Given the description of an element on the screen output the (x, y) to click on. 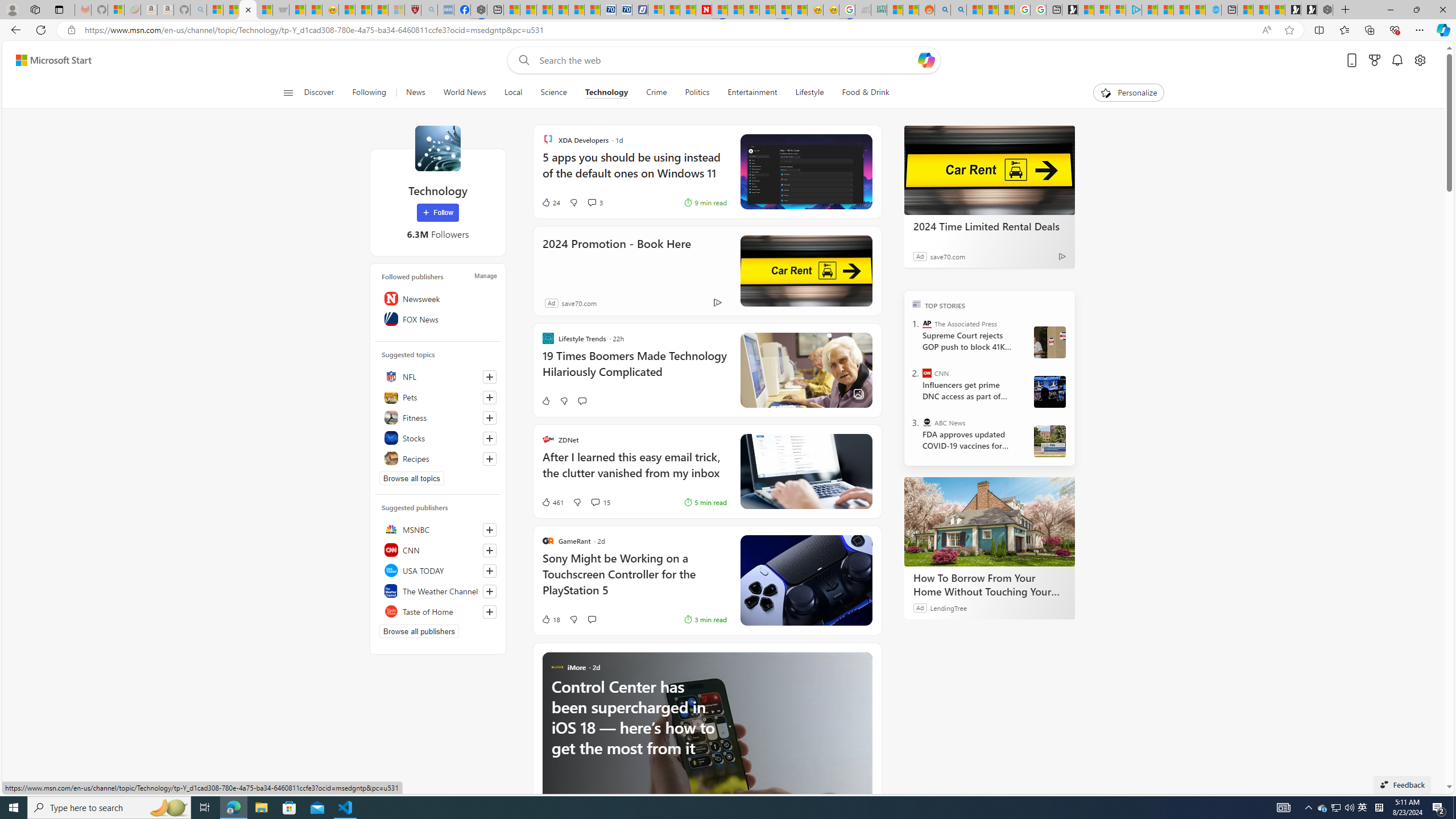
Fitness (437, 417)
Technology - MSN (247, 9)
